Given the description of an element on the screen output the (x, y) to click on. 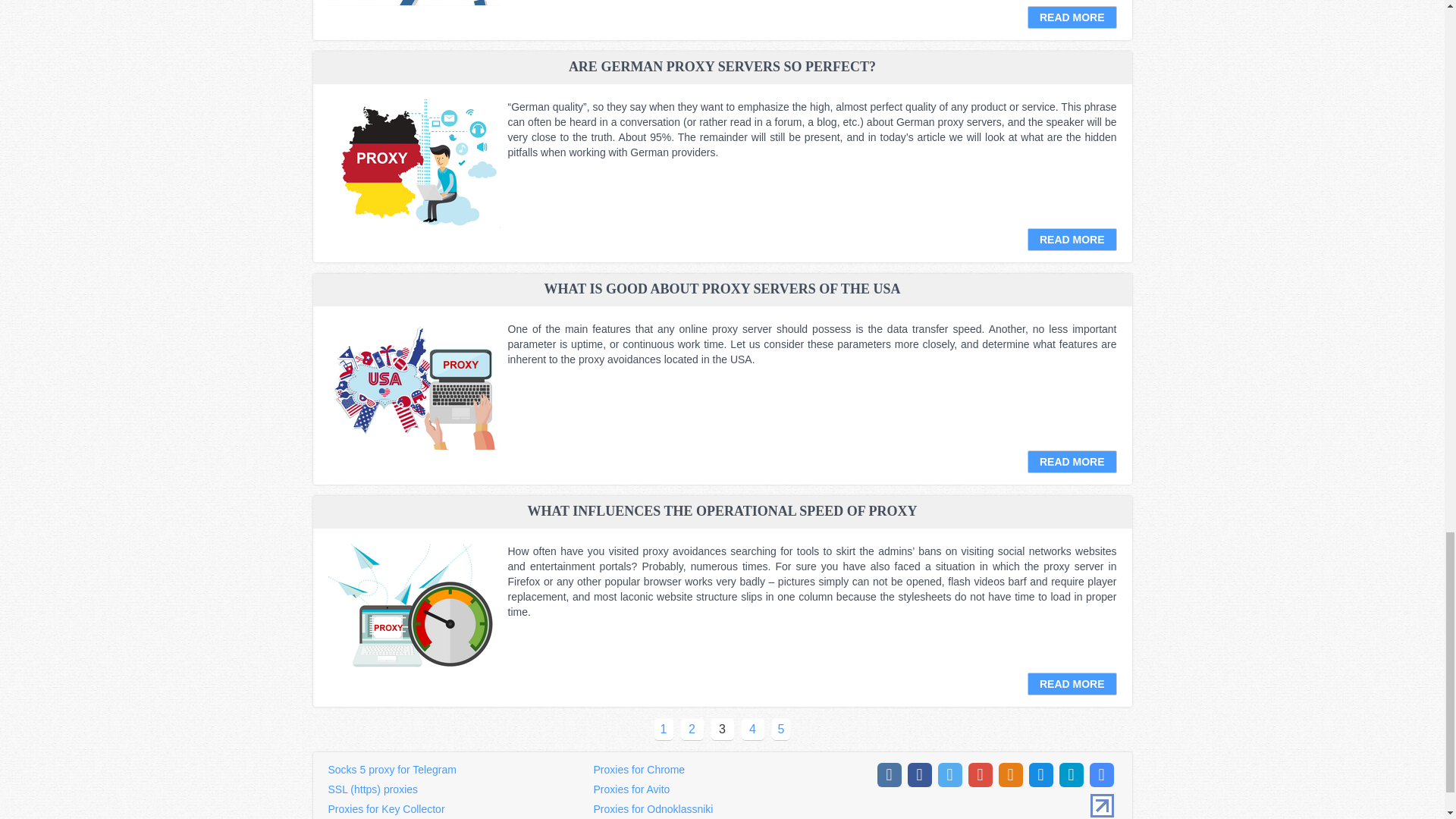
What is good about proxy servers of the USA (413, 385)
LiveInternet (1101, 805)
Advantages and disadvantages of Russian proxy servers (413, 2)
READ MORE (1071, 239)
READ MORE (1071, 16)
Are German proxy servers so perfect? (413, 163)
What influences the operational speed of proxy (413, 607)
